Given the description of an element on the screen output the (x, y) to click on. 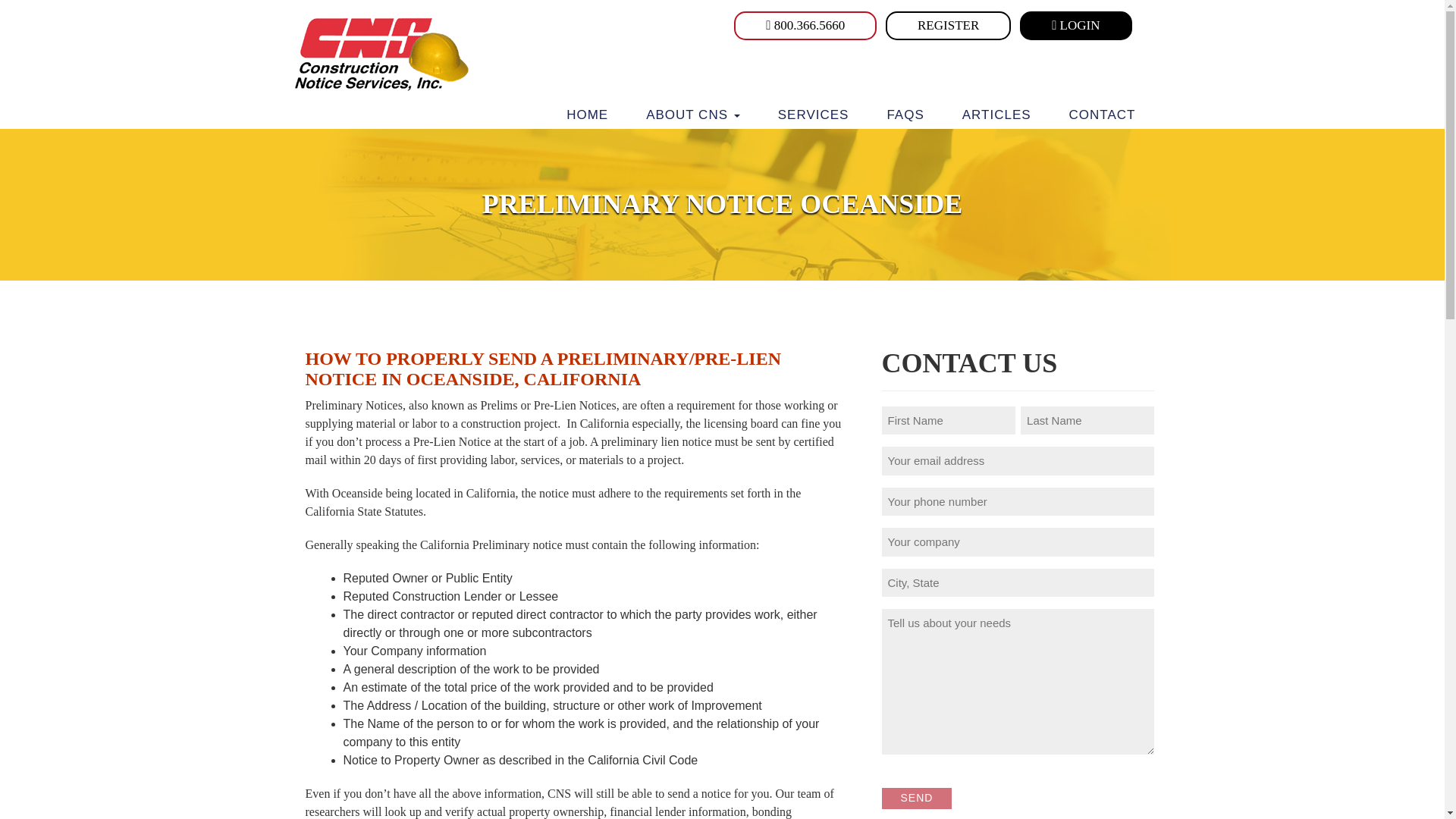
REGISTER (947, 25)
ABOUT CNS (692, 114)
ARTICLES (996, 114)
Home (587, 114)
Send (916, 798)
Construction Notice Services (376, 51)
Contact (1101, 114)
800.366.5660 (804, 25)
Services (812, 114)
HOME (587, 114)
